Given the description of an element on the screen output the (x, y) to click on. 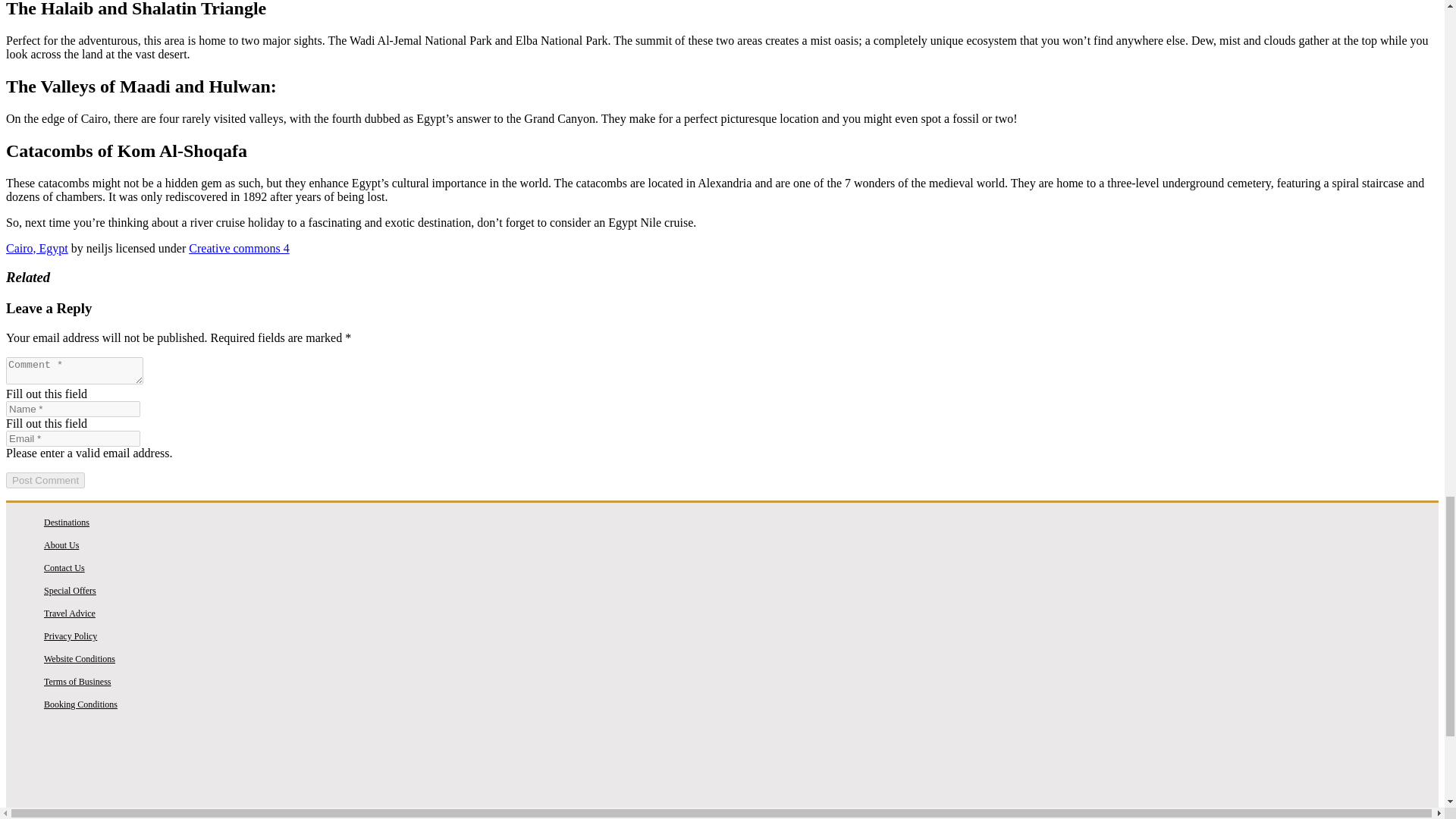
Post Comment (44, 480)
About Us (60, 544)
Hidden gems to visit in Egypt (722, 767)
Cairo, Egypt (36, 247)
Destinations (65, 521)
Contact Us (63, 567)
Creative commons 4 (238, 247)
Special Offers (69, 590)
Travel Advice (69, 613)
